Given the description of an element on the screen output the (x, y) to click on. 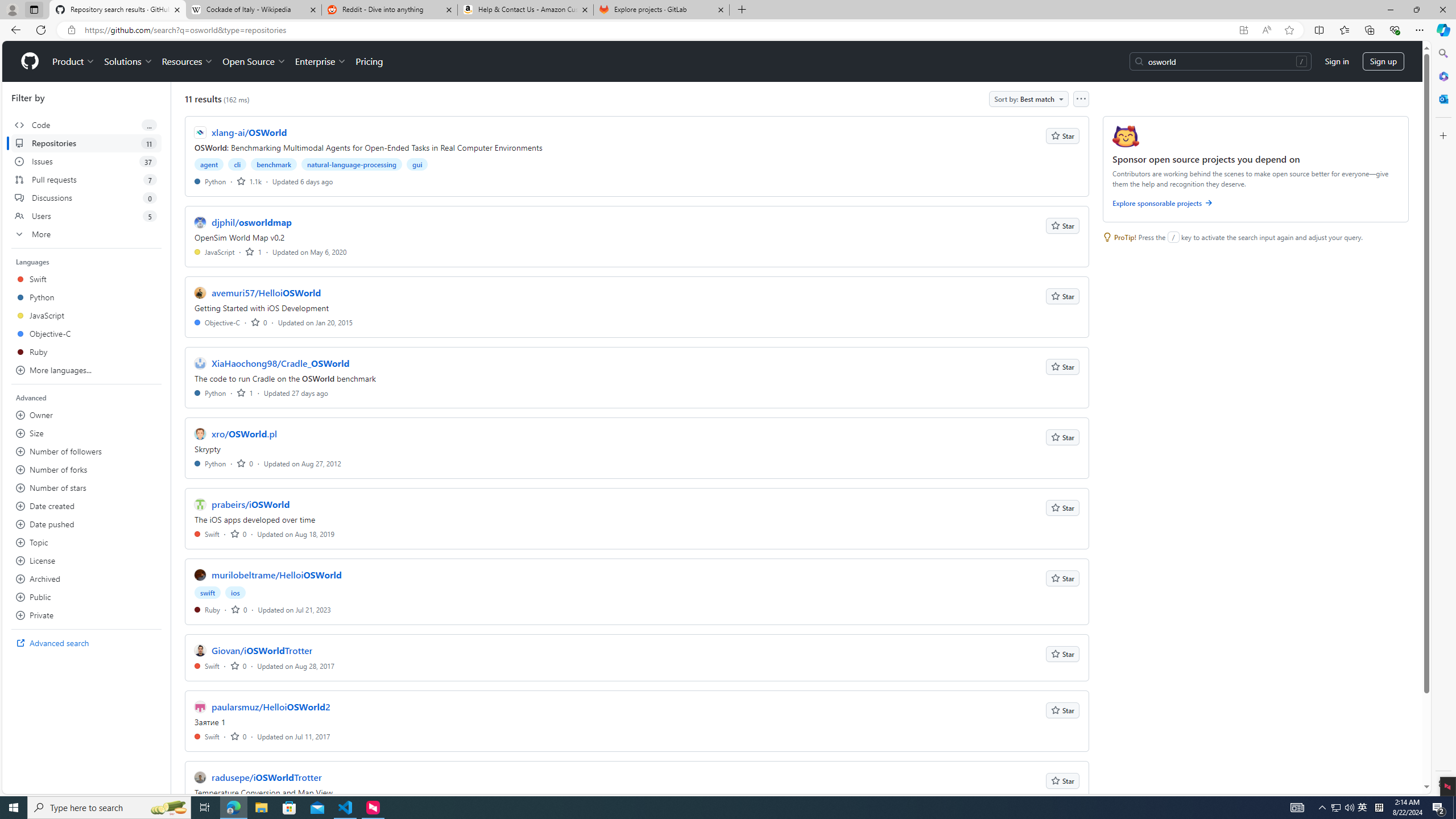
Open Source (254, 60)
App available. Install GitHub (1243, 29)
Back (13, 29)
Close (1442, 9)
New Tab (741, 9)
Package icon (1125, 136)
Updated on Aug 18, 2019 (295, 533)
radusepe/iOSWorldTrotter (266, 777)
Updated on Aug 28, 2017 (295, 665)
